Given the description of an element on the screen output the (x, y) to click on. 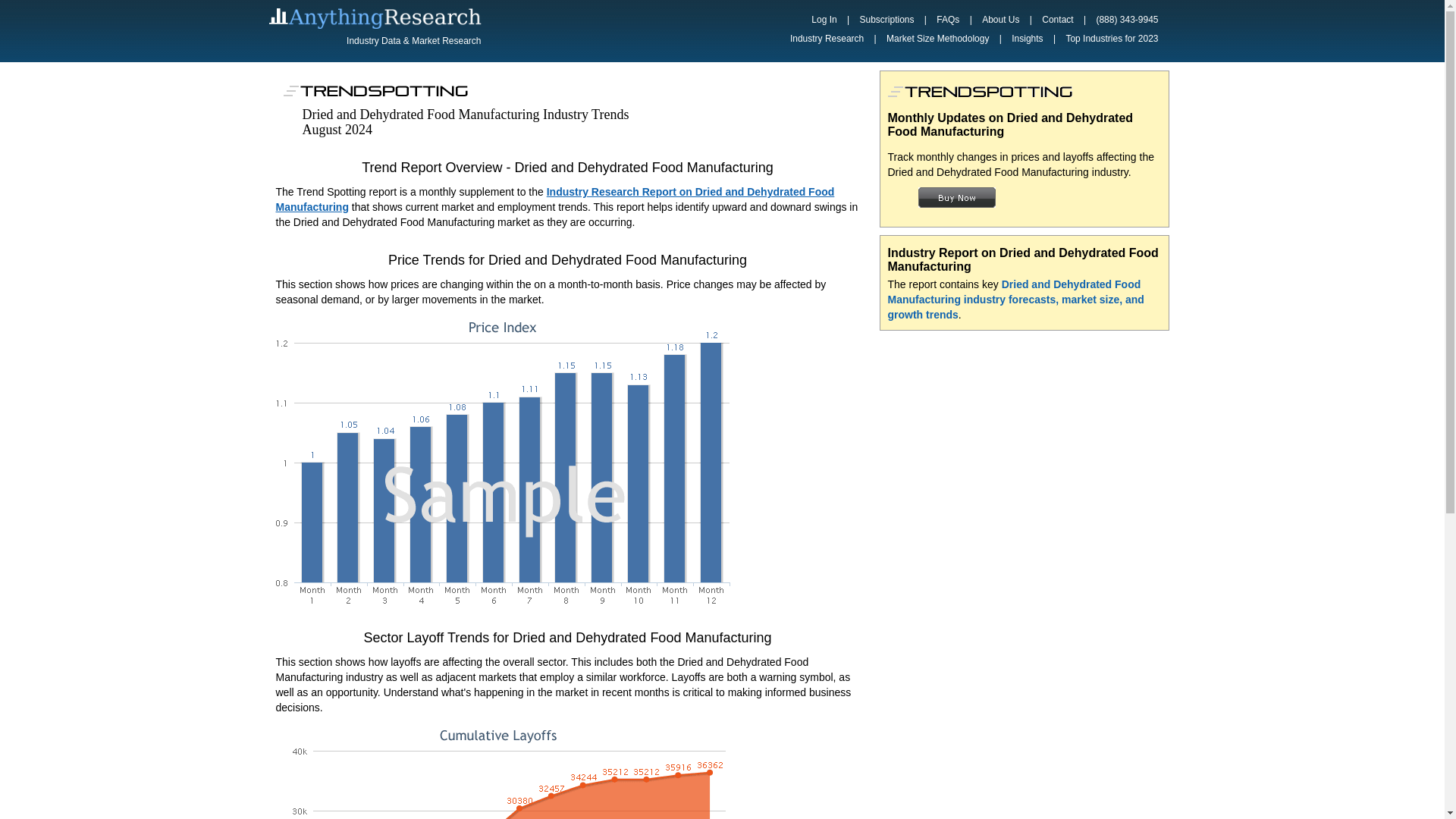
Log In (823, 19)
FAQs (947, 19)
Industry Research (826, 38)
Subscriptions (886, 19)
Market Size Methodology (937, 38)
Top Industries for 2023 (1112, 38)
Insights (1026, 38)
About Us (1000, 19)
Industry Report on Dried and Dehydrated Food Manufacturing (1021, 259)
